Given the description of an element on the screen output the (x, y) to click on. 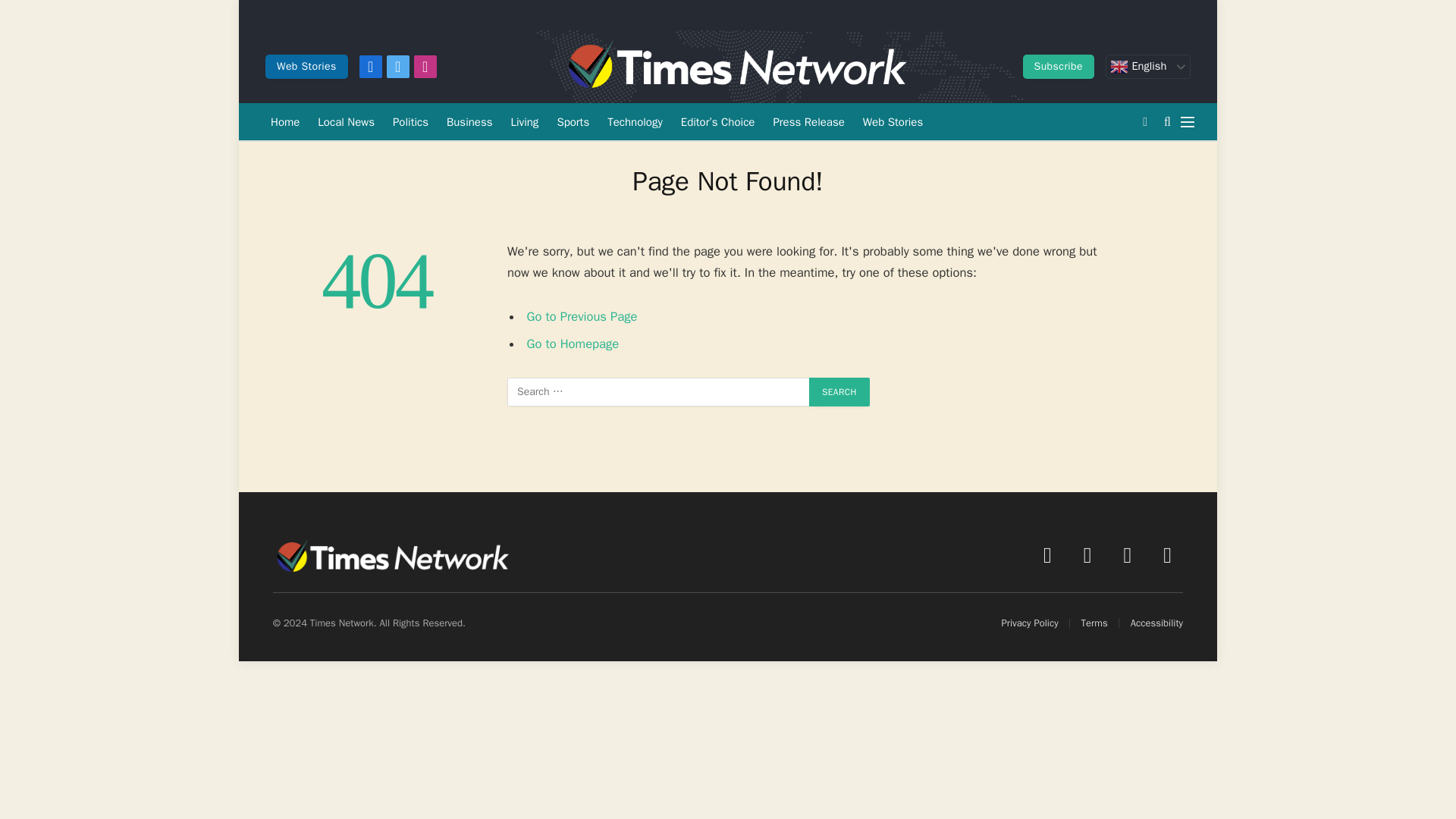
English (1148, 66)
Search (839, 391)
Search (839, 391)
Switch to Dark Design - easier on eyes. (1144, 121)
Web Stories (305, 66)
Times Network (735, 66)
Subscribe (1058, 66)
Instagram (424, 66)
Facebook (370, 66)
Home (285, 121)
